Given the description of an element on the screen output the (x, y) to click on. 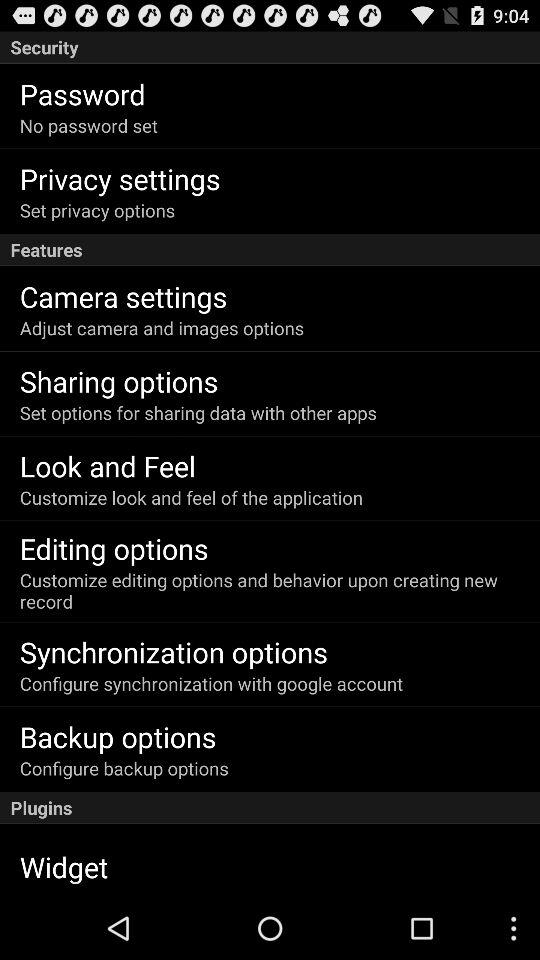
flip until camera settings (123, 296)
